Given the description of an element on the screen output the (x, y) to click on. 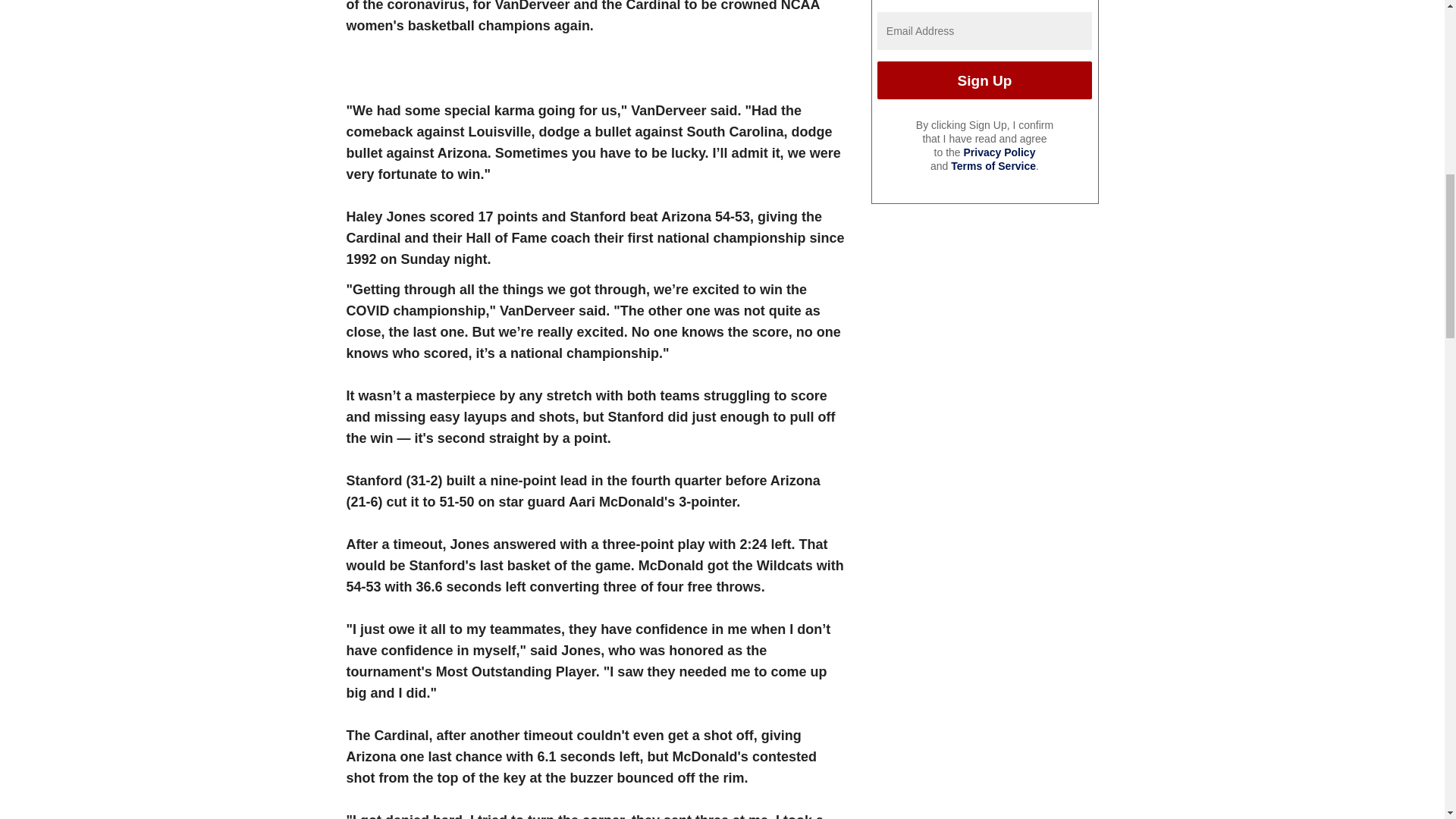
Sign Up (984, 80)
